Given the description of an element on the screen output the (x, y) to click on. 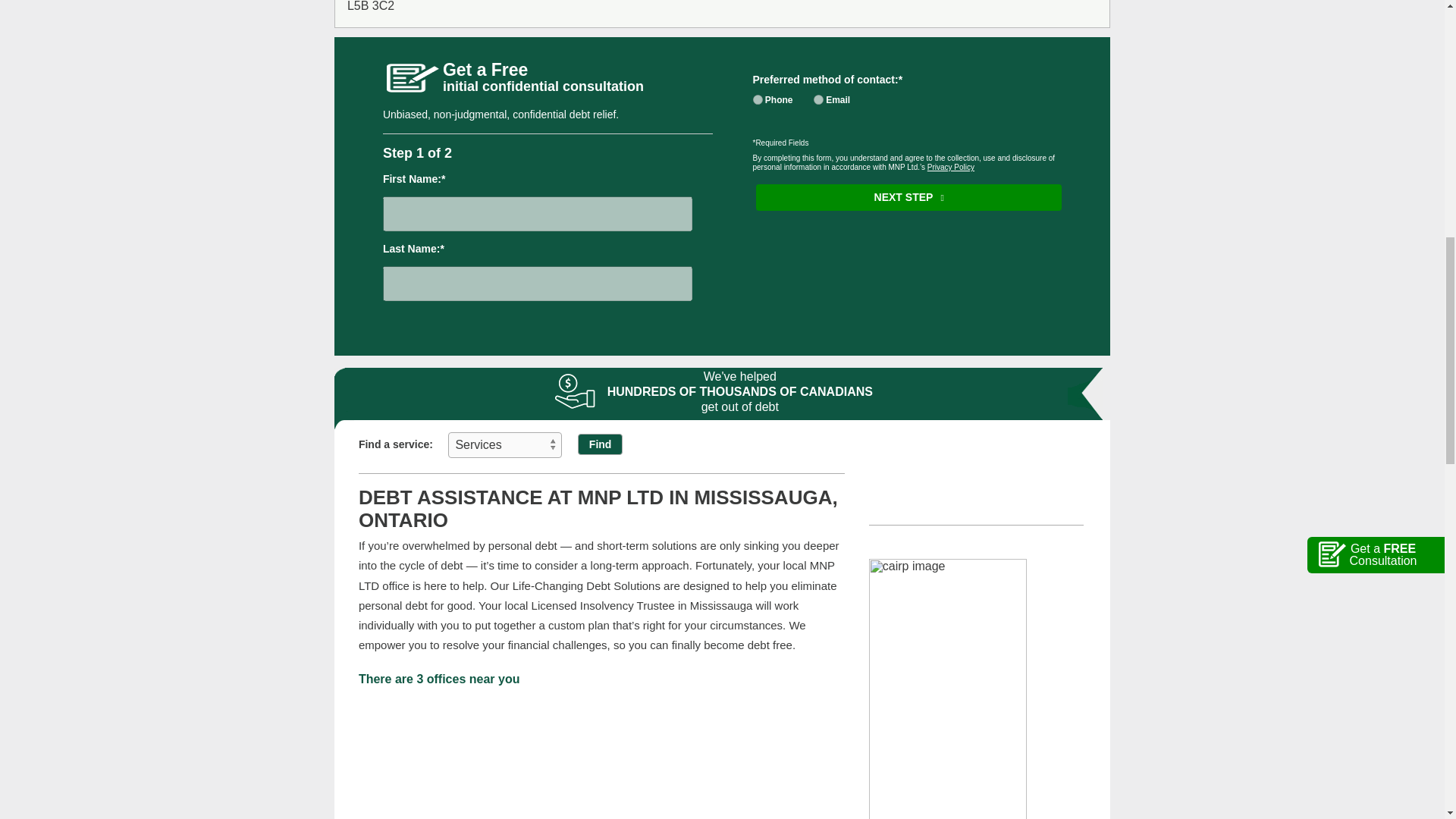
Email (818, 99)
Phone (756, 99)
Privacy Policy (950, 166)
